Given the description of an element on the screen output the (x, y) to click on. 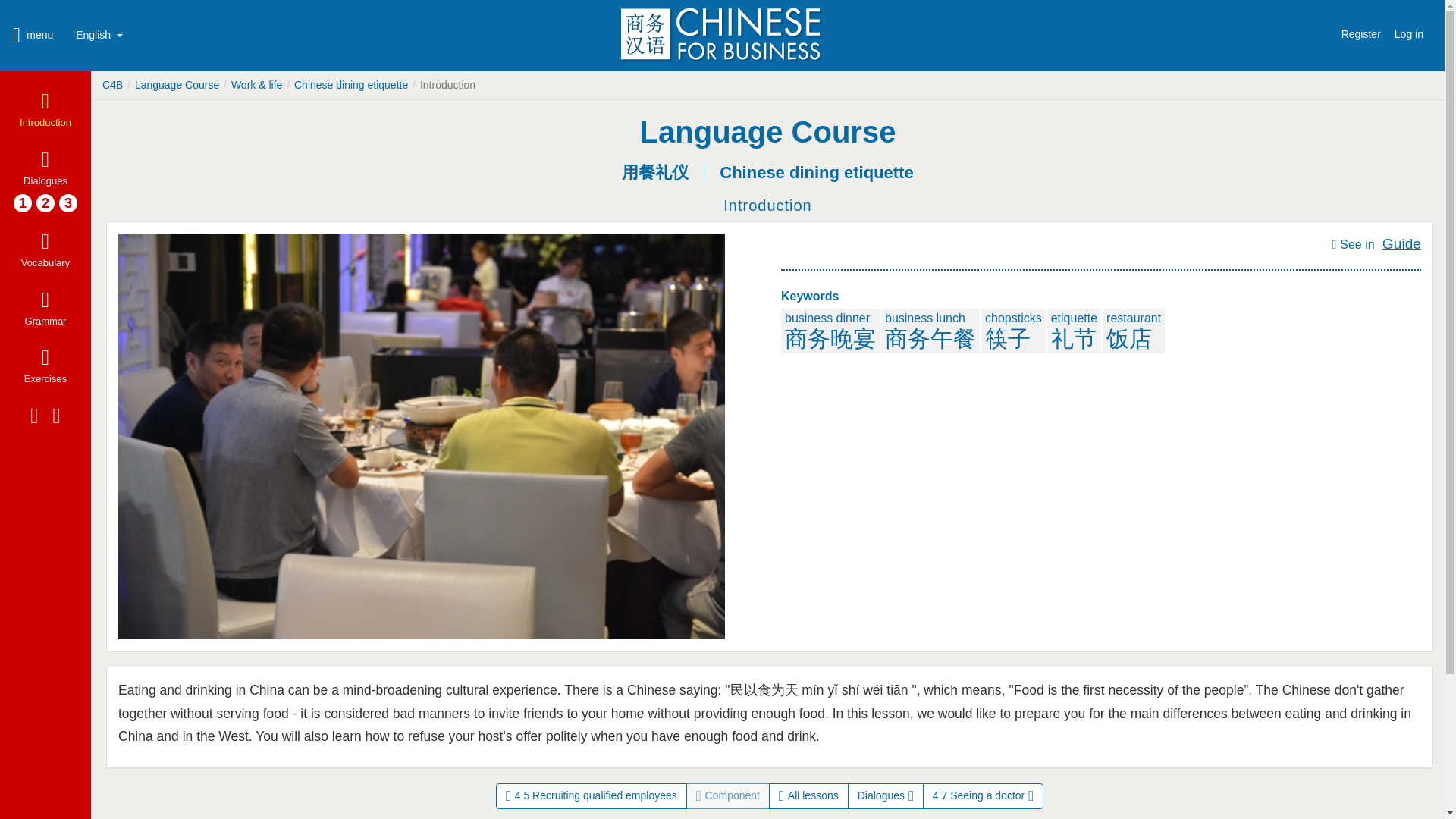
4.5 Recruiting qualified employees (591, 795)
1 (22, 203)
4.7 Seeing a doctor (983, 795)
All lessons (808, 795)
English (98, 35)
Component (727, 795)
Grammar (45, 309)
Exercises (45, 366)
Guide (1401, 243)
Register (1360, 29)
